Given the description of an element on the screen output the (x, y) to click on. 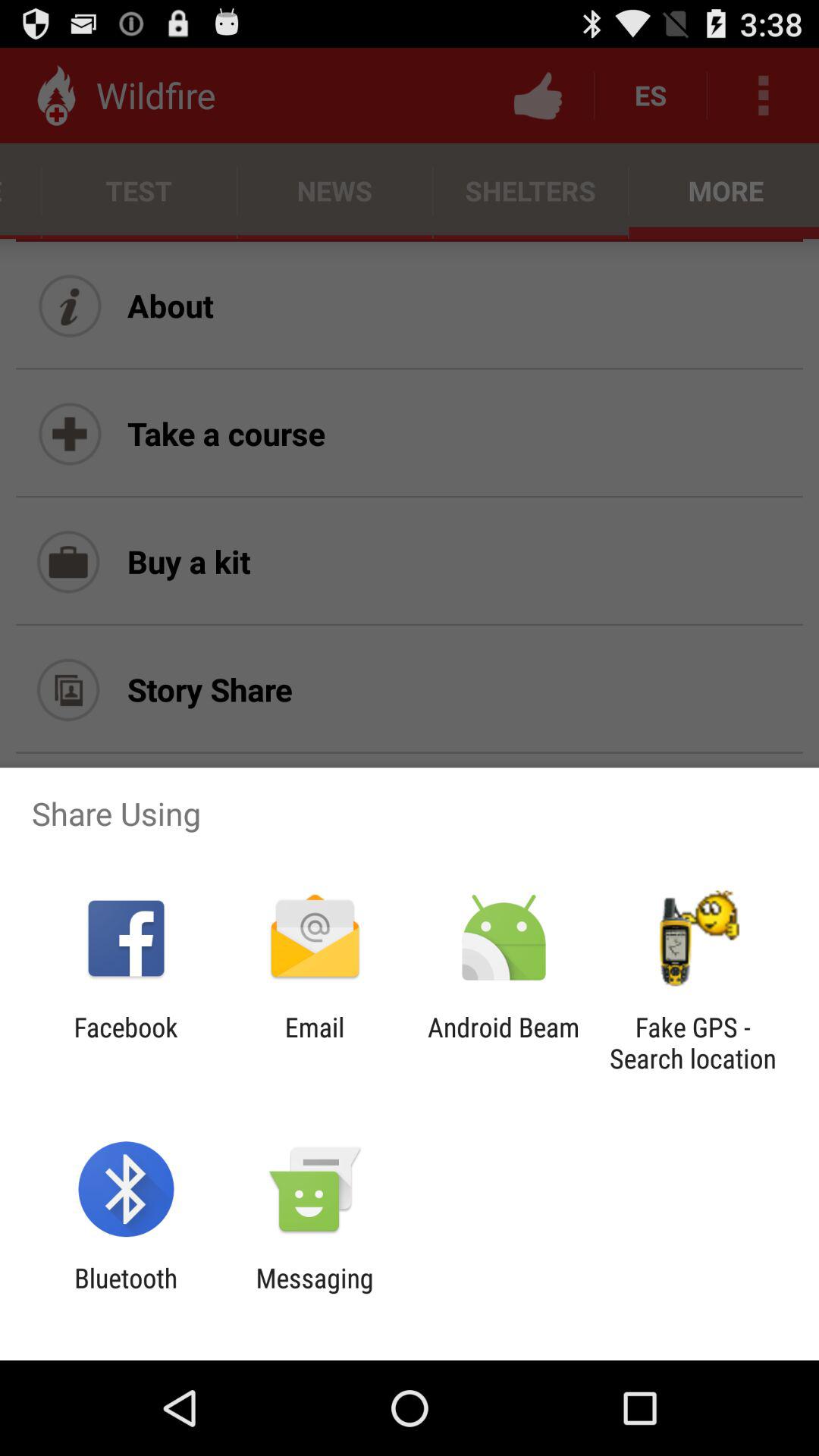
turn on item next to fake gps search icon (503, 1042)
